Given the description of an element on the screen output the (x, y) to click on. 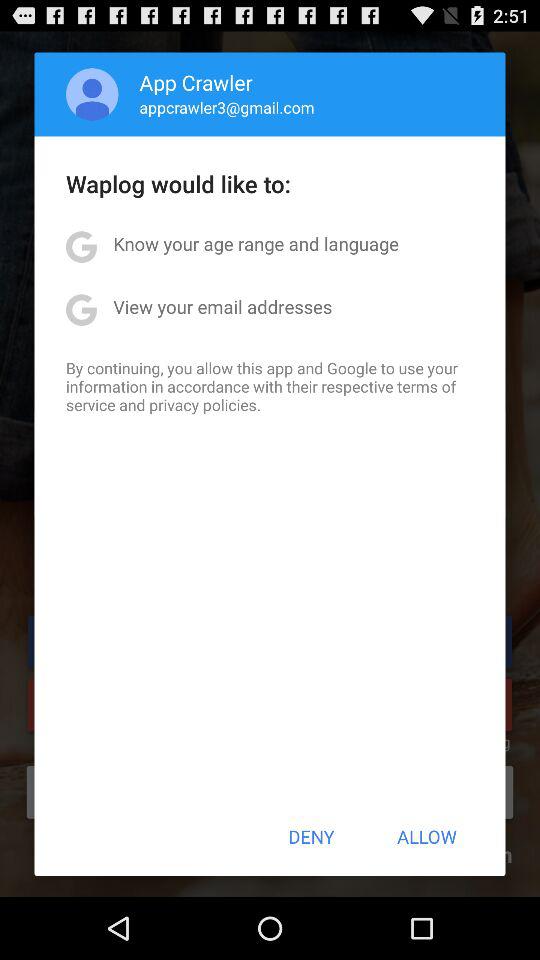
select app above the by continuing you (222, 306)
